Given the description of an element on the screen output the (x, y) to click on. 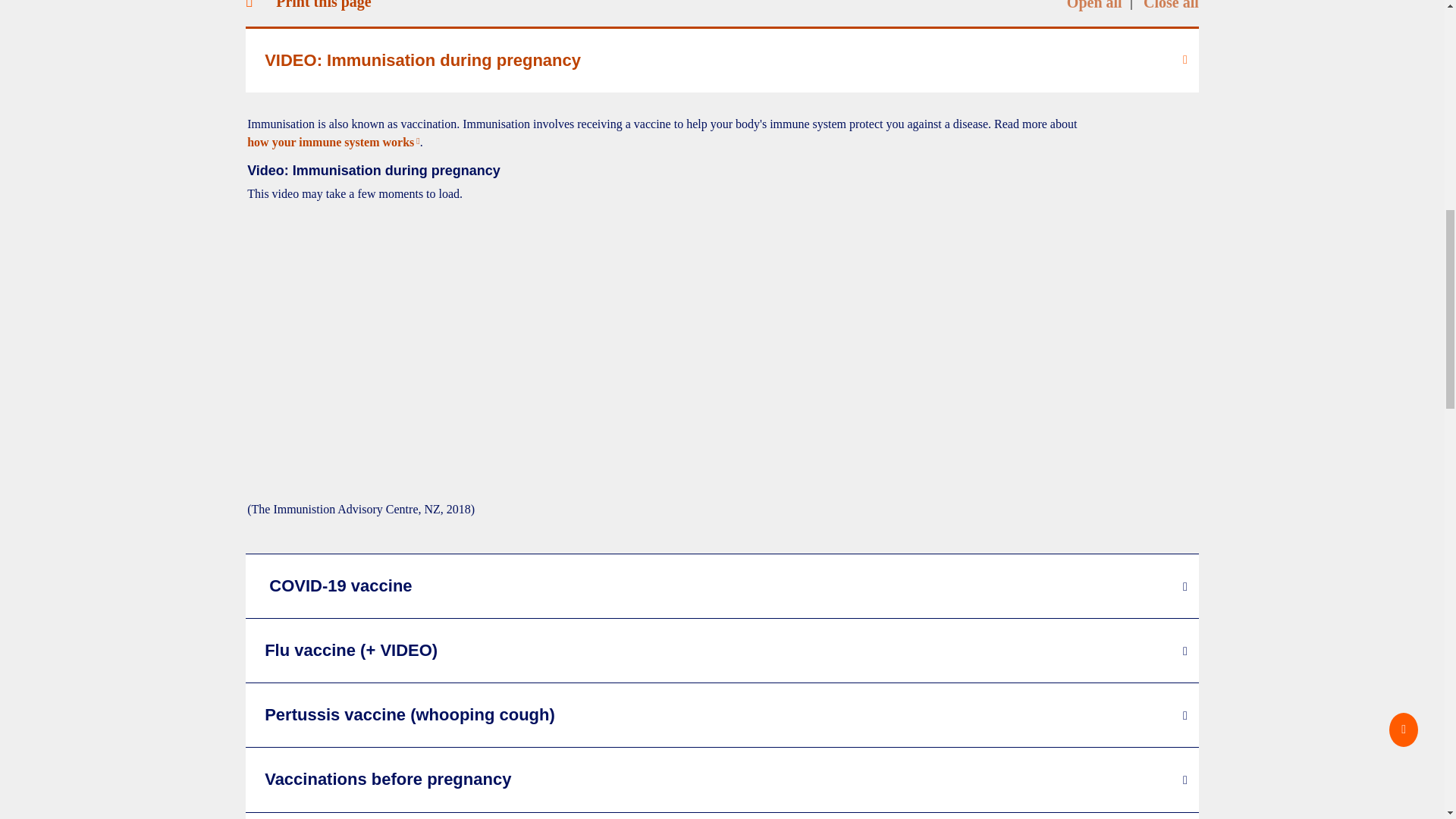
Immunisation during pregnancy (489, 351)
